Given the description of an element on the screen output the (x, y) to click on. 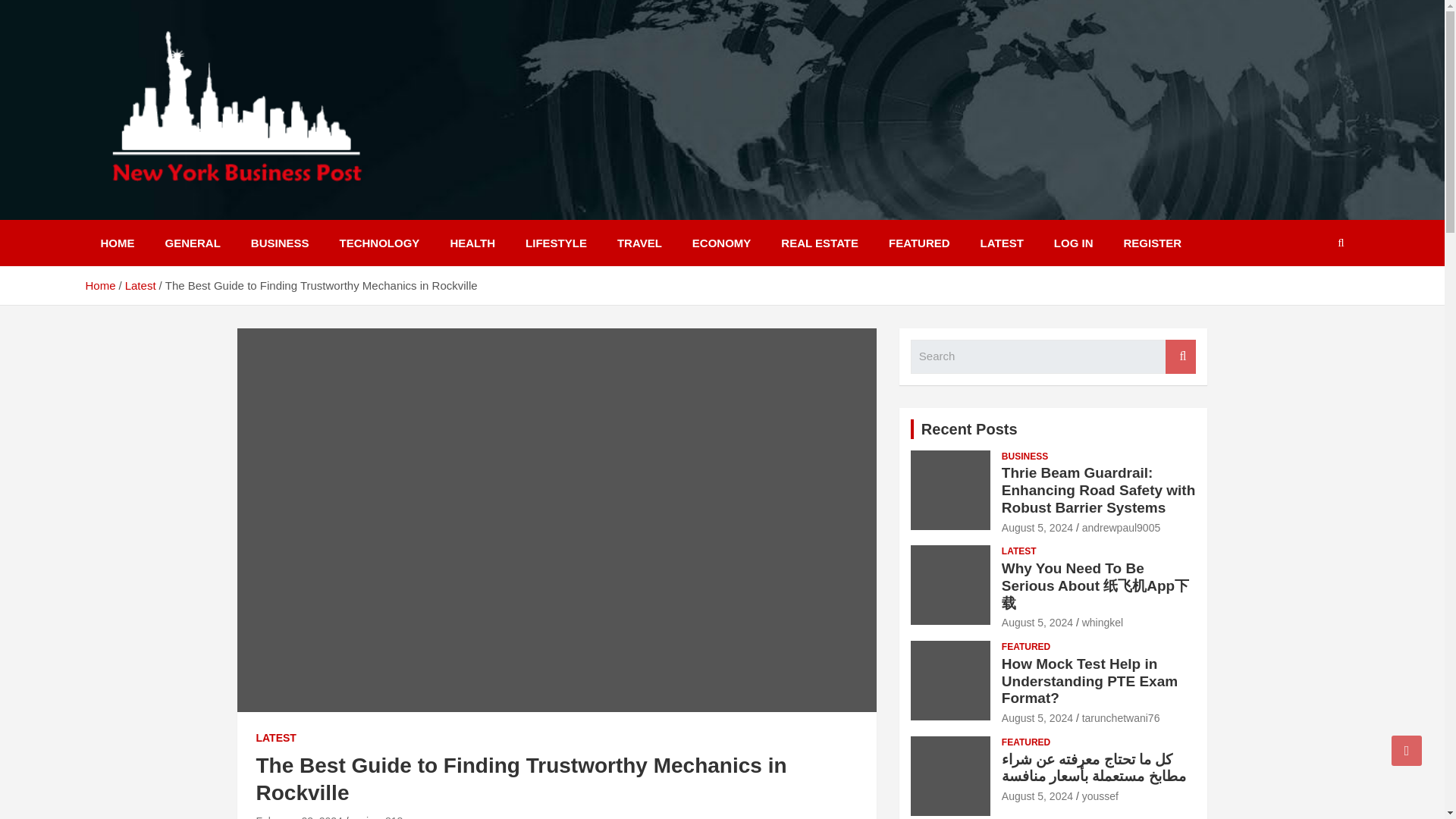
REGISTER (1152, 243)
REAL ESTATE (819, 243)
ravisex818 (377, 816)
Latest (140, 285)
LATEST (1018, 551)
February 23, 2024 (299, 816)
LATEST (276, 738)
BUSINESS (279, 243)
The Best Guide to Finding Trustworthy Mechanics in Rockville (299, 816)
Recent Posts (969, 428)
andrewpaul9005 (1120, 527)
HOME (116, 243)
LIFESTYLE (556, 243)
GENERAL (192, 243)
